Given the description of an element on the screen output the (x, y) to click on. 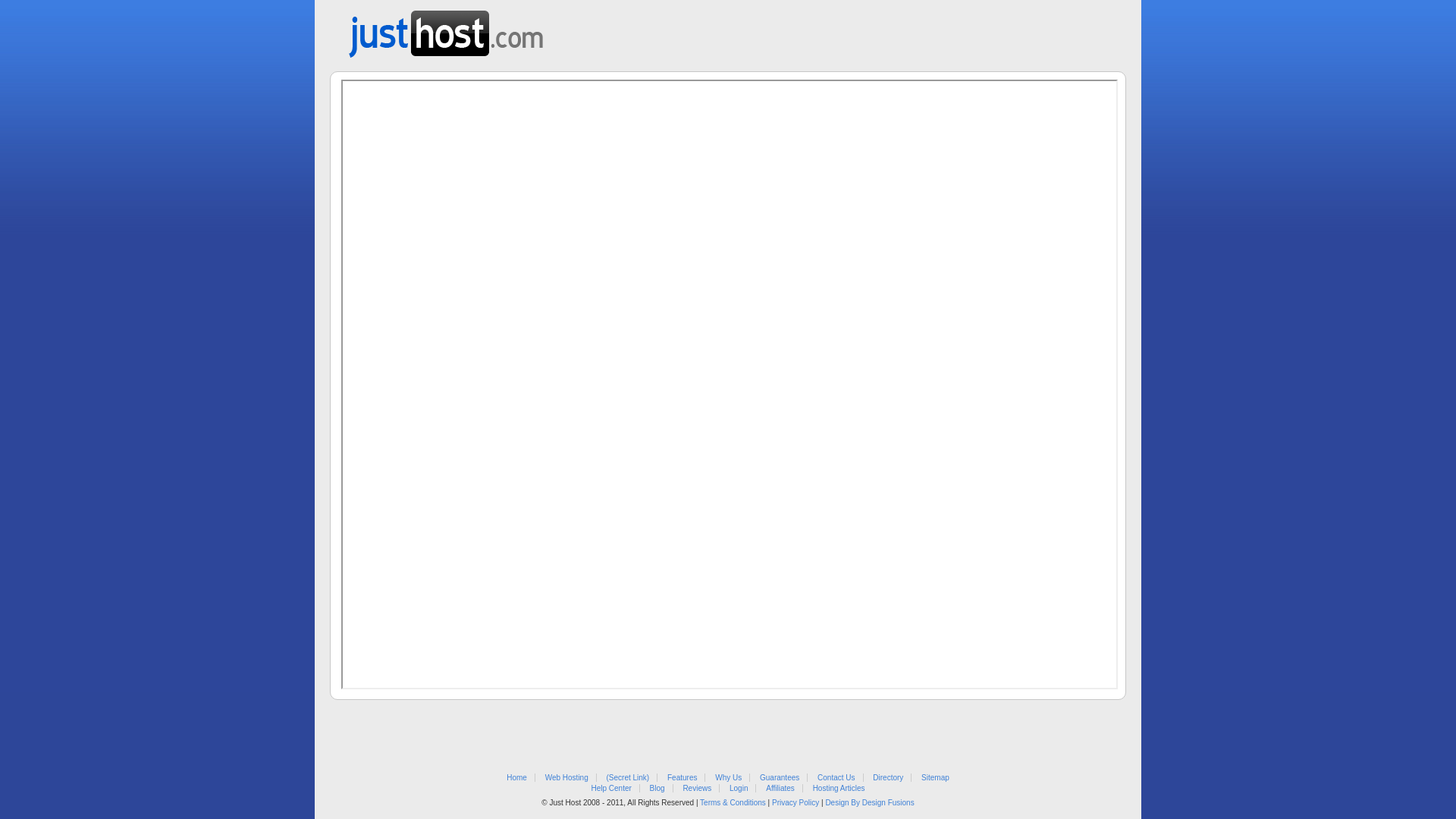
Design By Design Fusions Element type: text (869, 802)
Hosting Articles Element type: text (838, 788)
Home Element type: text (516, 777)
Privacy Policy Element type: text (795, 802)
Blog Element type: text (657, 788)
(Secret Link) Element type: text (627, 777)
Web Hosting Element type: text (566, 777)
Web Hosting from Just Host Element type: text (445, 28)
Why Us Element type: text (728, 777)
Directory Element type: text (887, 777)
Reviews Element type: text (696, 788)
Affiliates Element type: text (779, 788)
Features Element type: text (681, 777)
Login Element type: text (738, 788)
Terms & Conditions Element type: text (732, 802)
Help Center Element type: text (610, 788)
Sitemap Element type: text (935, 777)
Guarantees Element type: text (779, 777)
Contact Us Element type: text (835, 777)
